Given the description of an element on the screen output the (x, y) to click on. 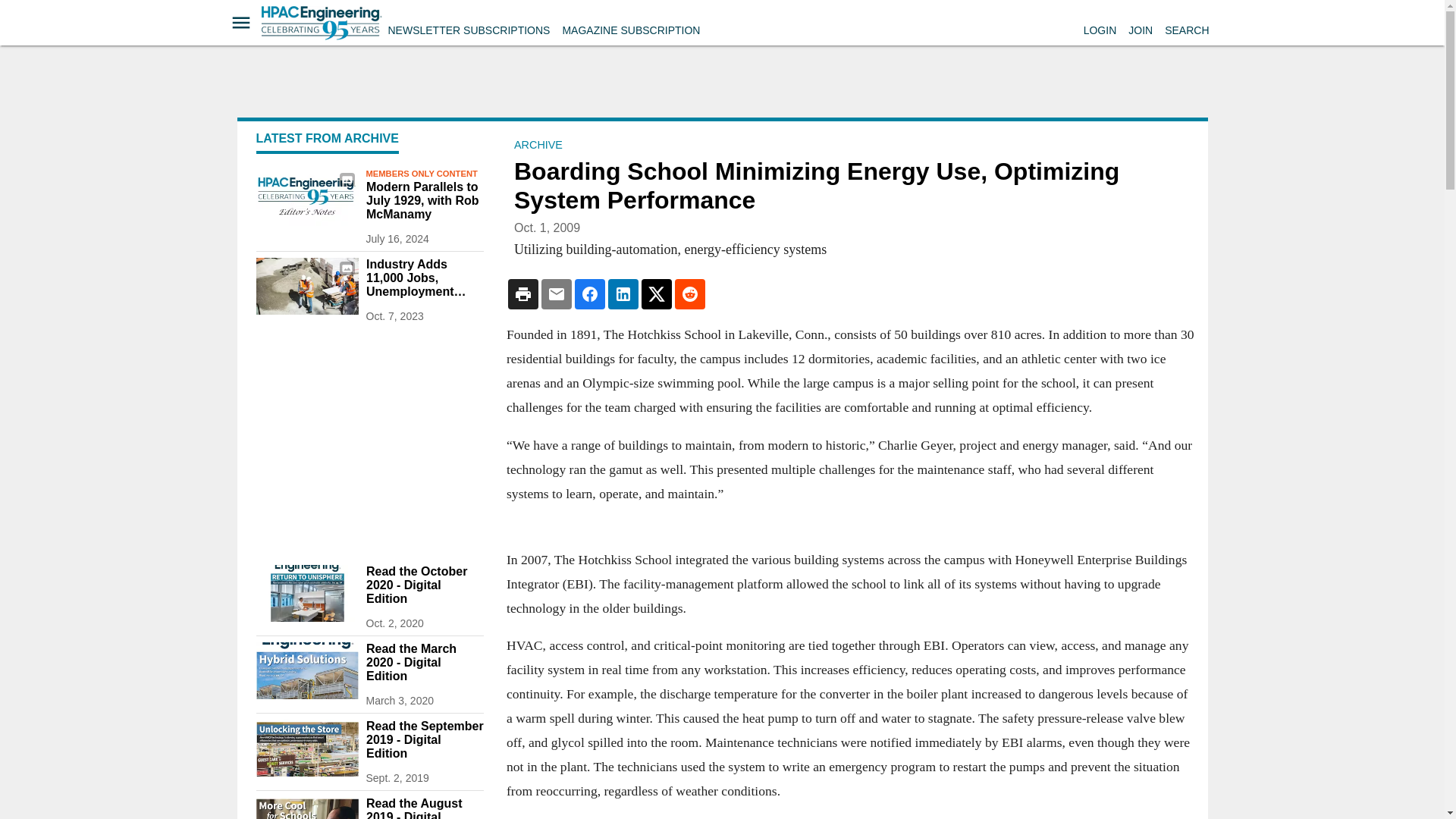
NEWSLETTER SUBSCRIPTIONS (469, 30)
Modern Parallels to July 1929, with Rob McManamy (424, 200)
JOIN (1140, 30)
Industry Adds 11,000 Jobs, Unemployment Remains Low (424, 277)
MAGAZINE SUBSCRIPTION (631, 30)
Read the March 2020 - Digital Edition (424, 662)
Screen Shot 2019-08-01 at 10.50.46 AM.png (307, 807)
Screen Shot 2019-09-01 at 2.12.12 PM.png (307, 747)
Istockphoto 680915886 612x612 (307, 285)
Screen Shot 2020 03 02 At 4 18 31 Pm (307, 670)
SEARCH (1186, 30)
LOGIN (1099, 30)
Read the October 2020 - Digital Edition (424, 585)
2010 Hpac Cvr 1540x800 (307, 593)
